Given the description of an element on the screen output the (x, y) to click on. 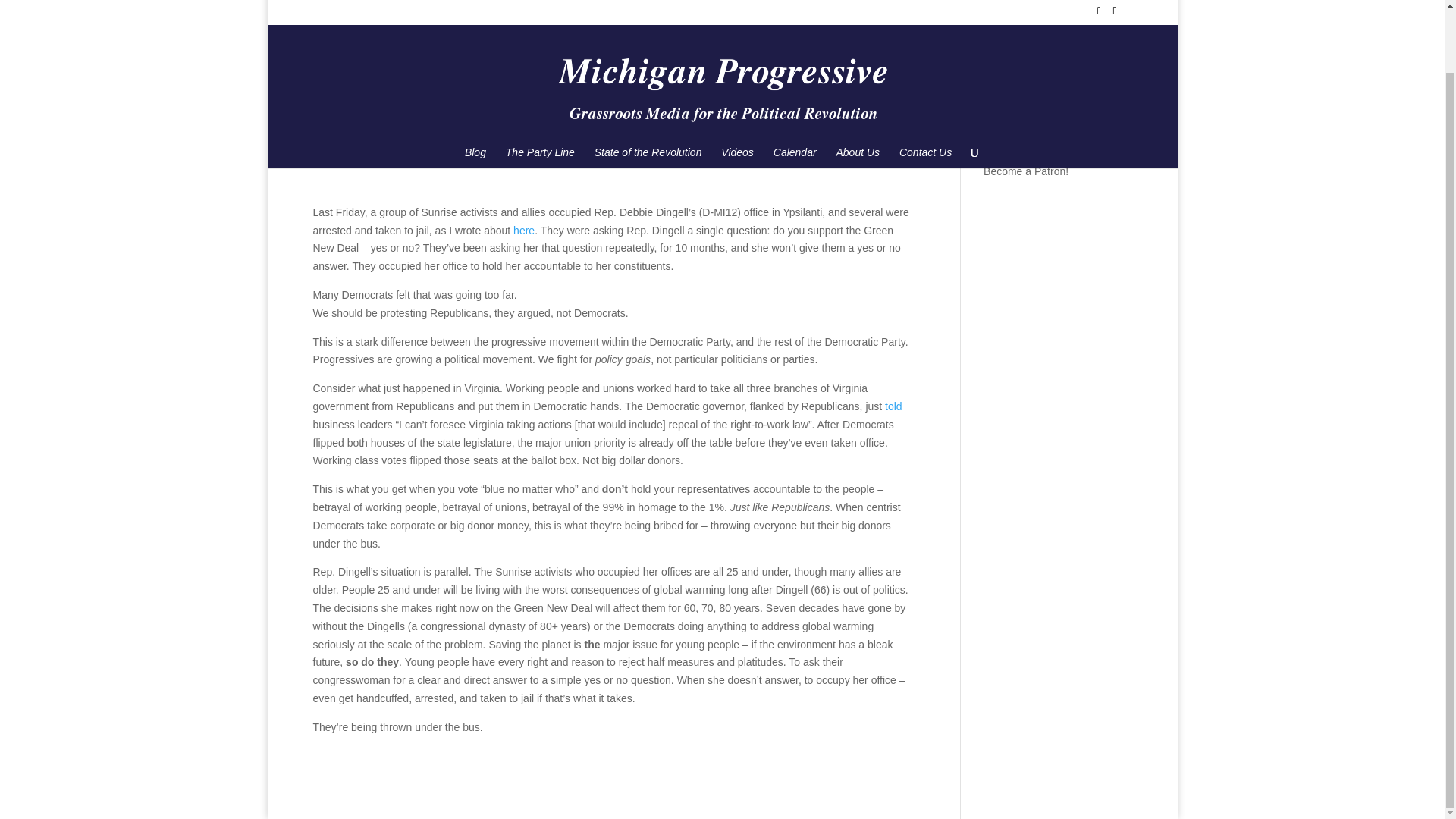
Search (1106, 124)
Party Politics (572, 155)
Search (1106, 124)
The Party Line (540, 88)
Blog (481, 155)
State of the Revolution (647, 88)
Liano Sharon (358, 155)
Editorial (516, 155)
Videos (737, 88)
Blog (475, 88)
